Given the description of an element on the screen output the (x, y) to click on. 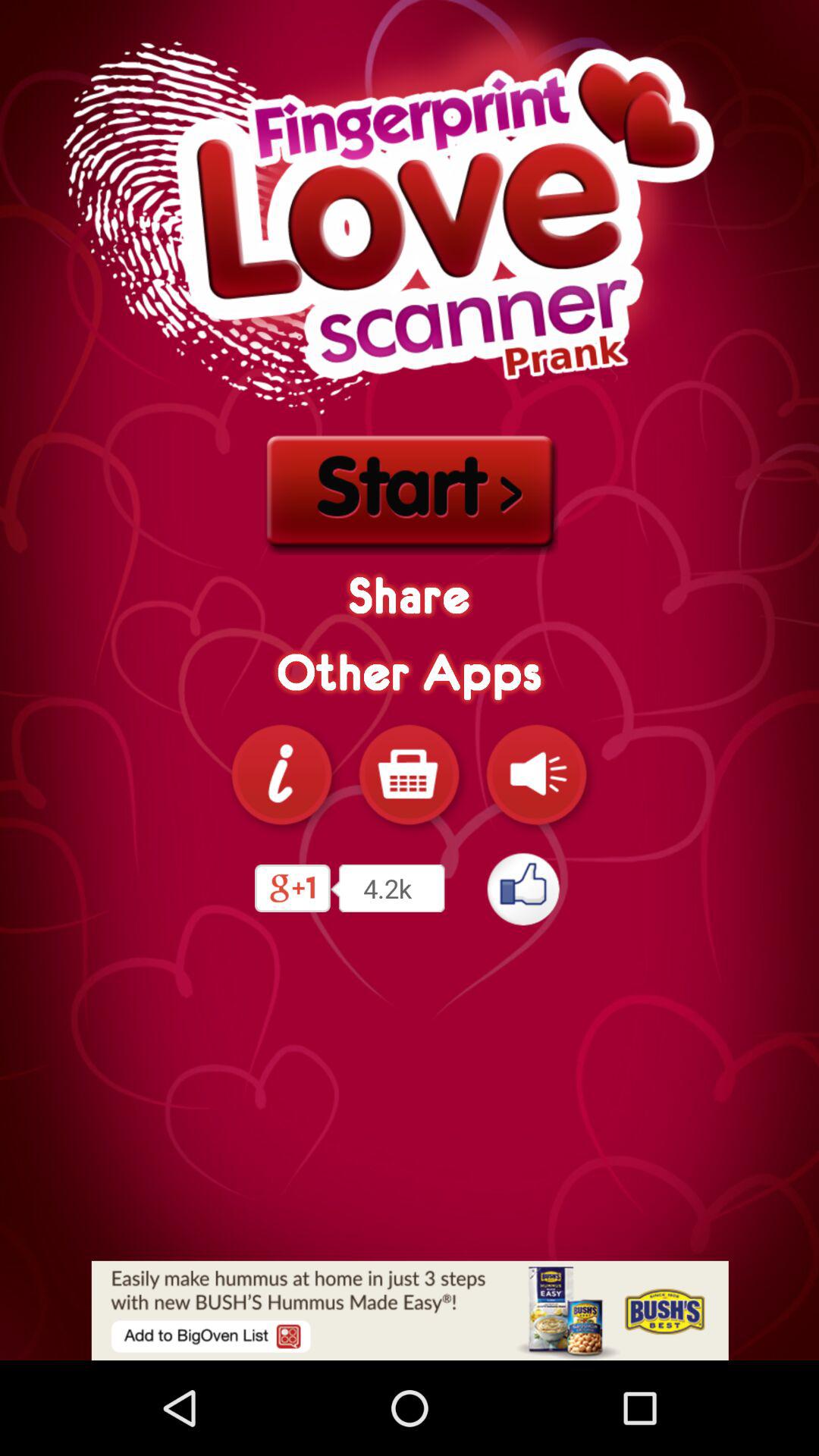
share the article (409, 1310)
